Given the description of an element on the screen output the (x, y) to click on. 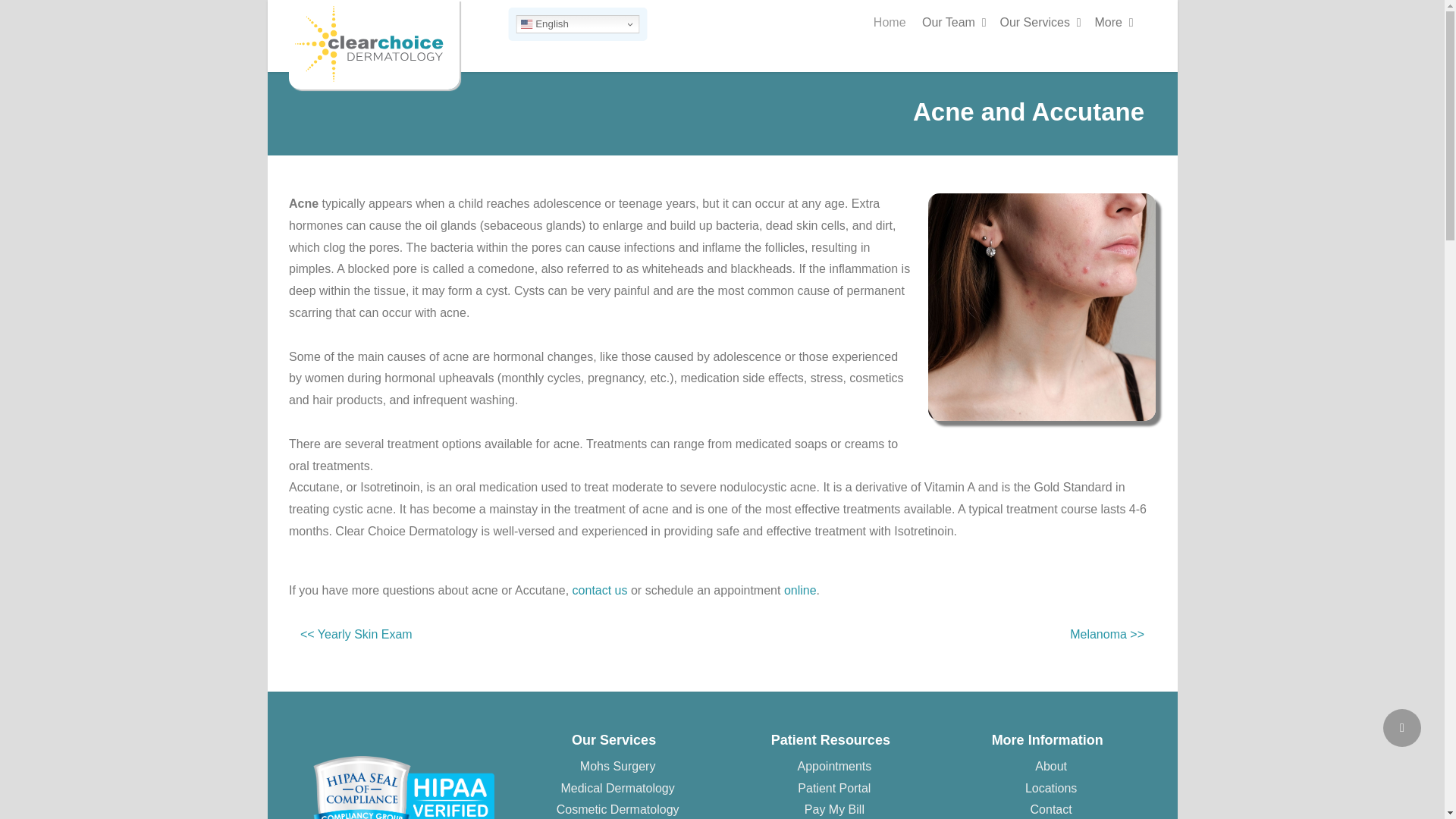
Home (892, 18)
English (577, 24)
